Given the description of an element on the screen output the (x, y) to click on. 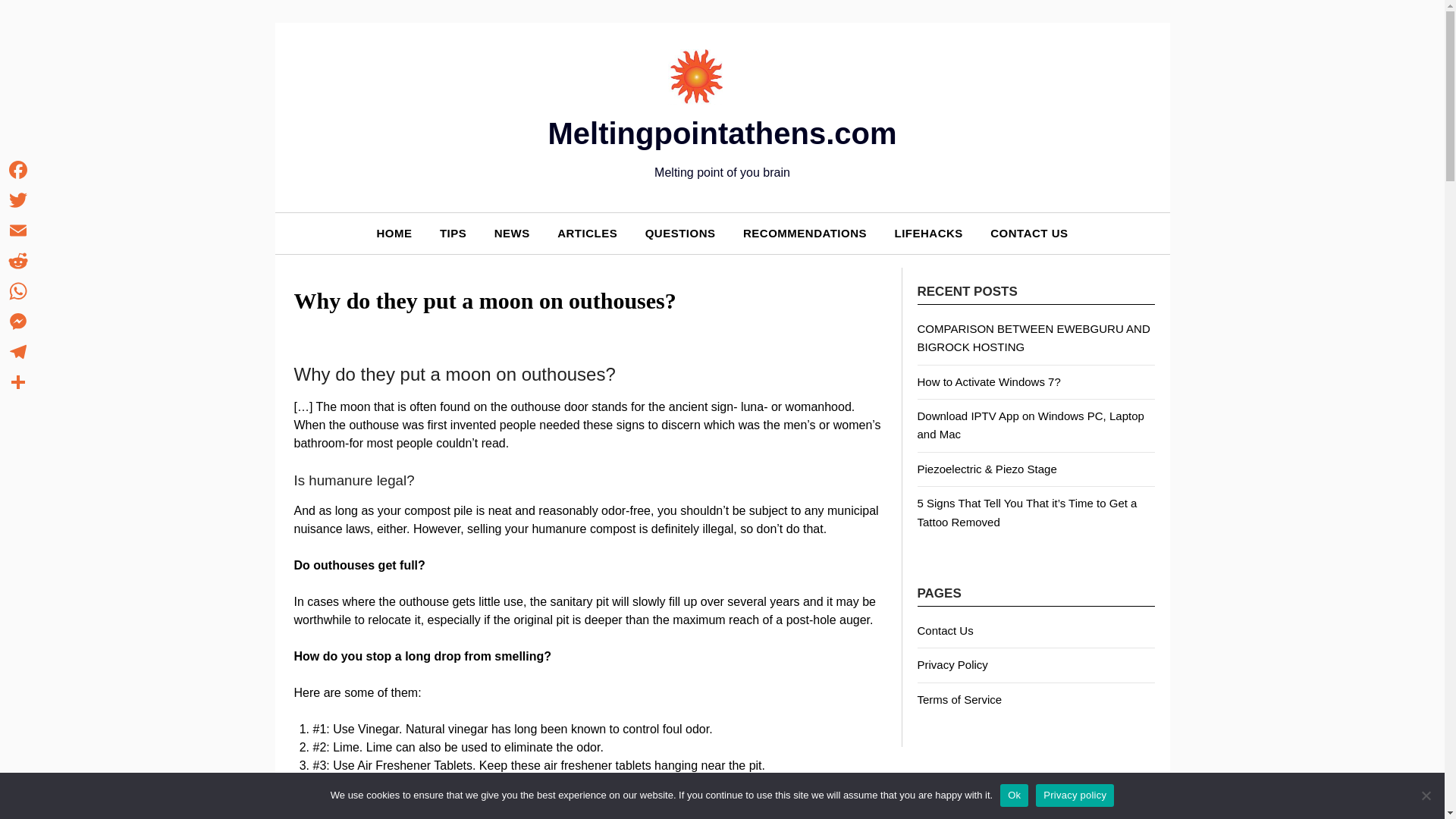
How to Activate Windows 7? (989, 381)
Terms of Service (960, 698)
Privacy Policy (952, 664)
Messenger (17, 321)
RECOMMENDATIONS (804, 232)
NEWS (511, 232)
CONTACT US (1029, 232)
HOME (393, 232)
TIPS (453, 232)
ARTICLES (586, 232)
